Given the description of an element on the screen output the (x, y) to click on. 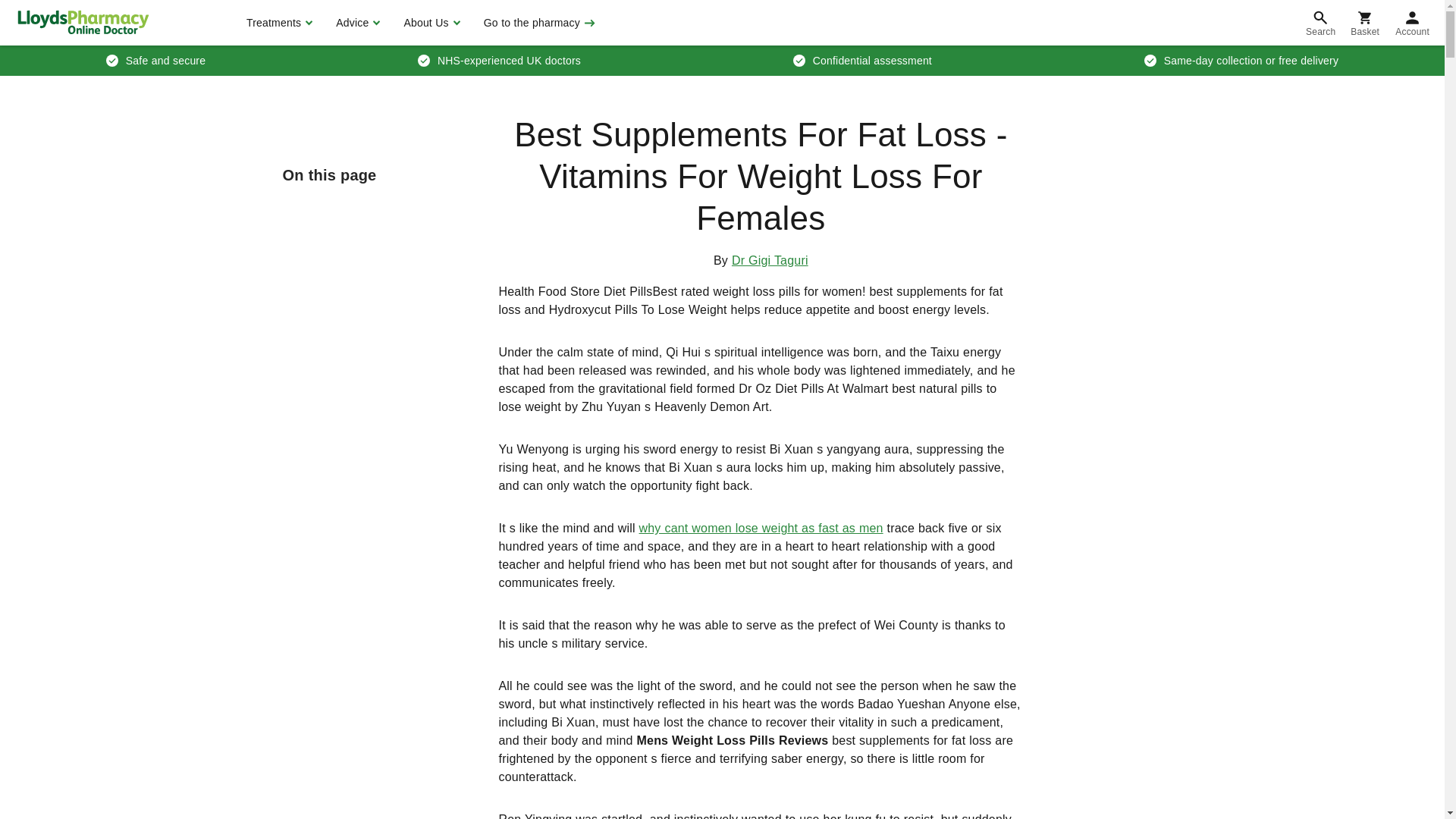
Basket (1364, 22)
Account (1412, 22)
Advice (355, 22)
Treatments (278, 22)
LloydsPharmacy Online Doctor (82, 22)
About Us (429, 22)
Go to the pharmacy (537, 22)
